Given the description of an element on the screen output the (x, y) to click on. 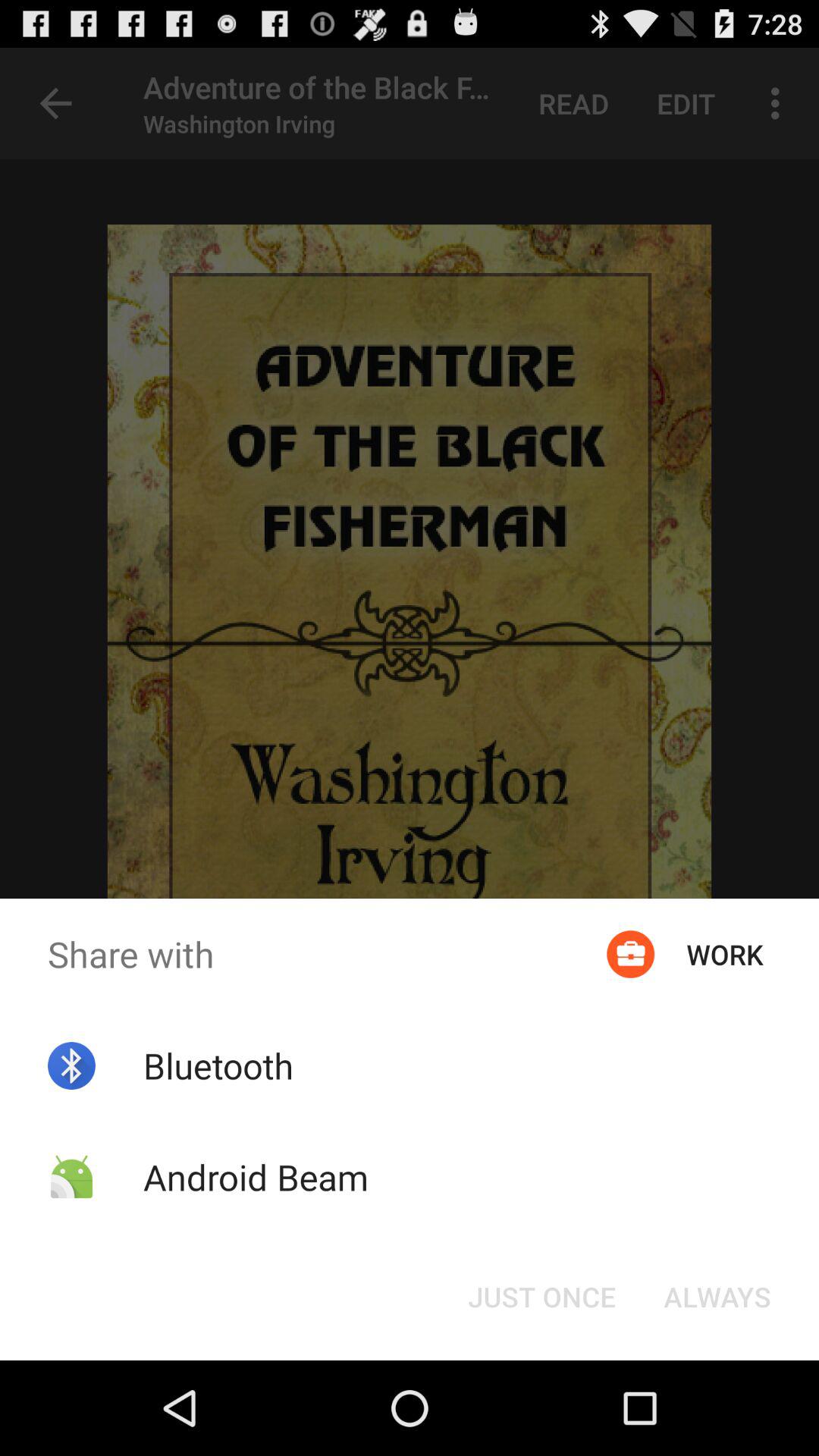
choose the icon next to the always (541, 1296)
